Given the description of an element on the screen output the (x, y) to click on. 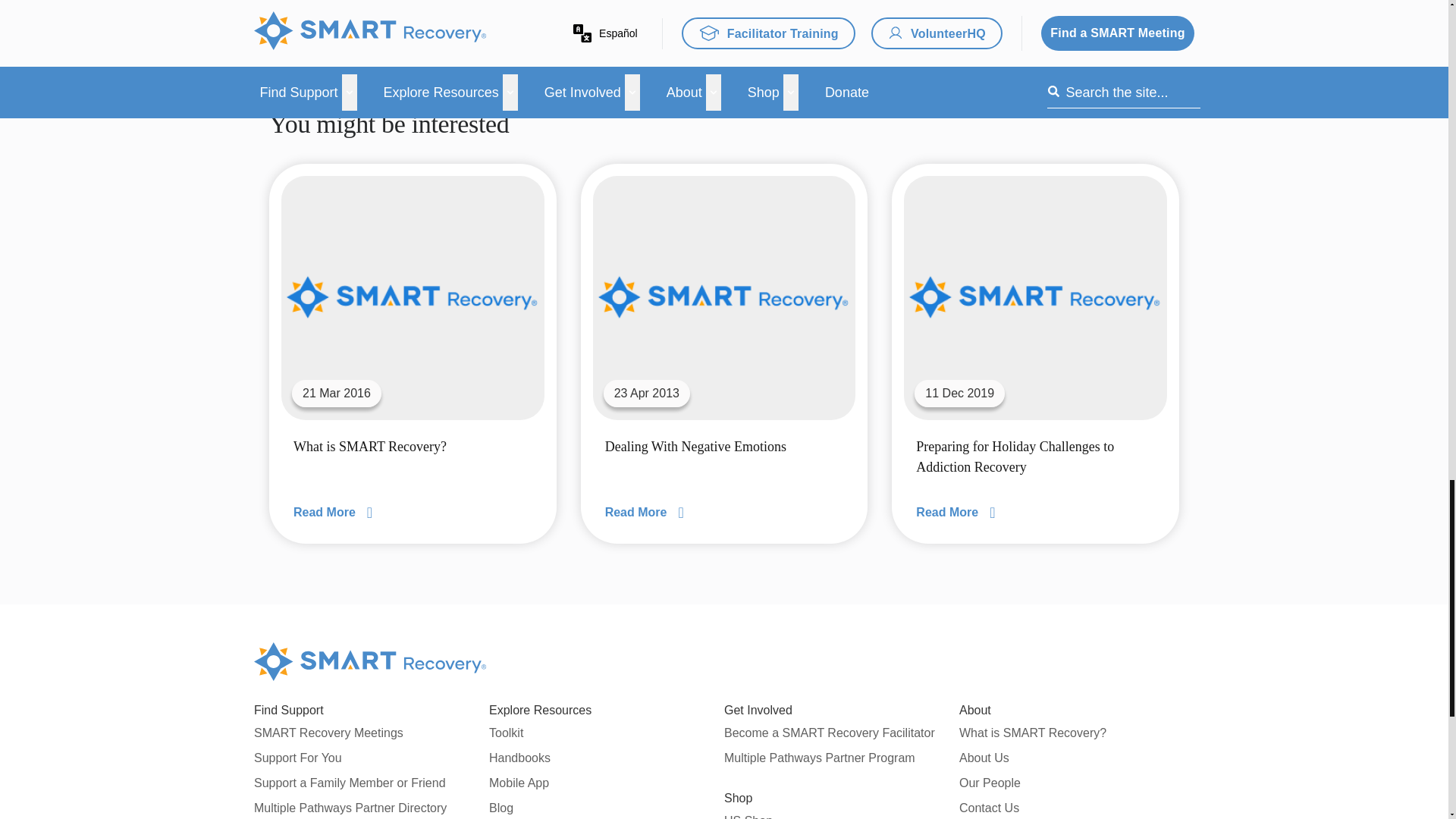
Smart Recovery Logo (369, 661)
